Given the description of an element on the screen output the (x, y) to click on. 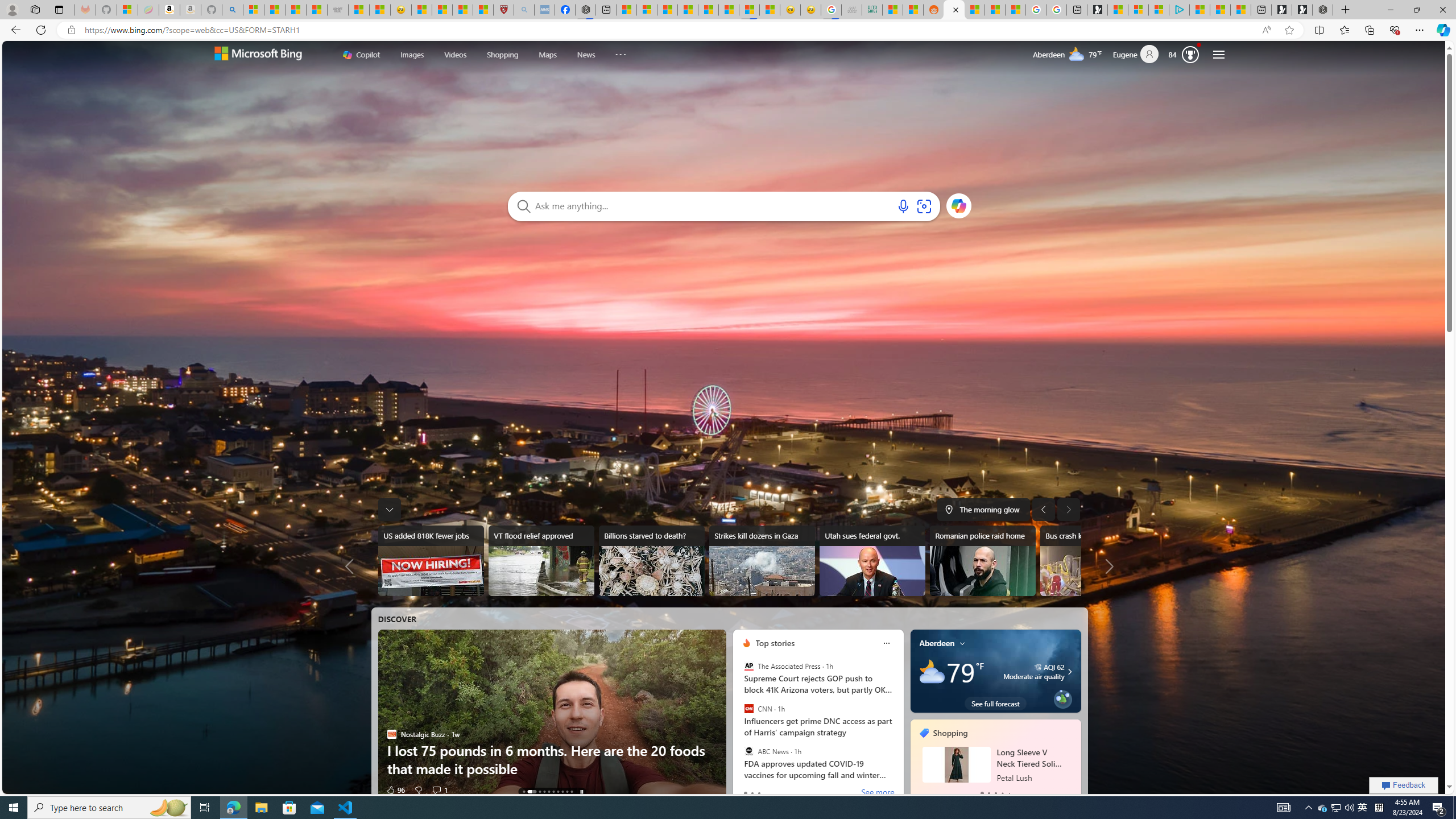
Top stories (774, 643)
0 characters out of 2000 (713, 205)
Bus crash kills 28 in Iran (1092, 560)
Videos (455, 53)
Class: eplant-img (1062, 697)
My location (962, 643)
Previous image (1043, 508)
